Given the description of an element on the screen output the (x, y) to click on. 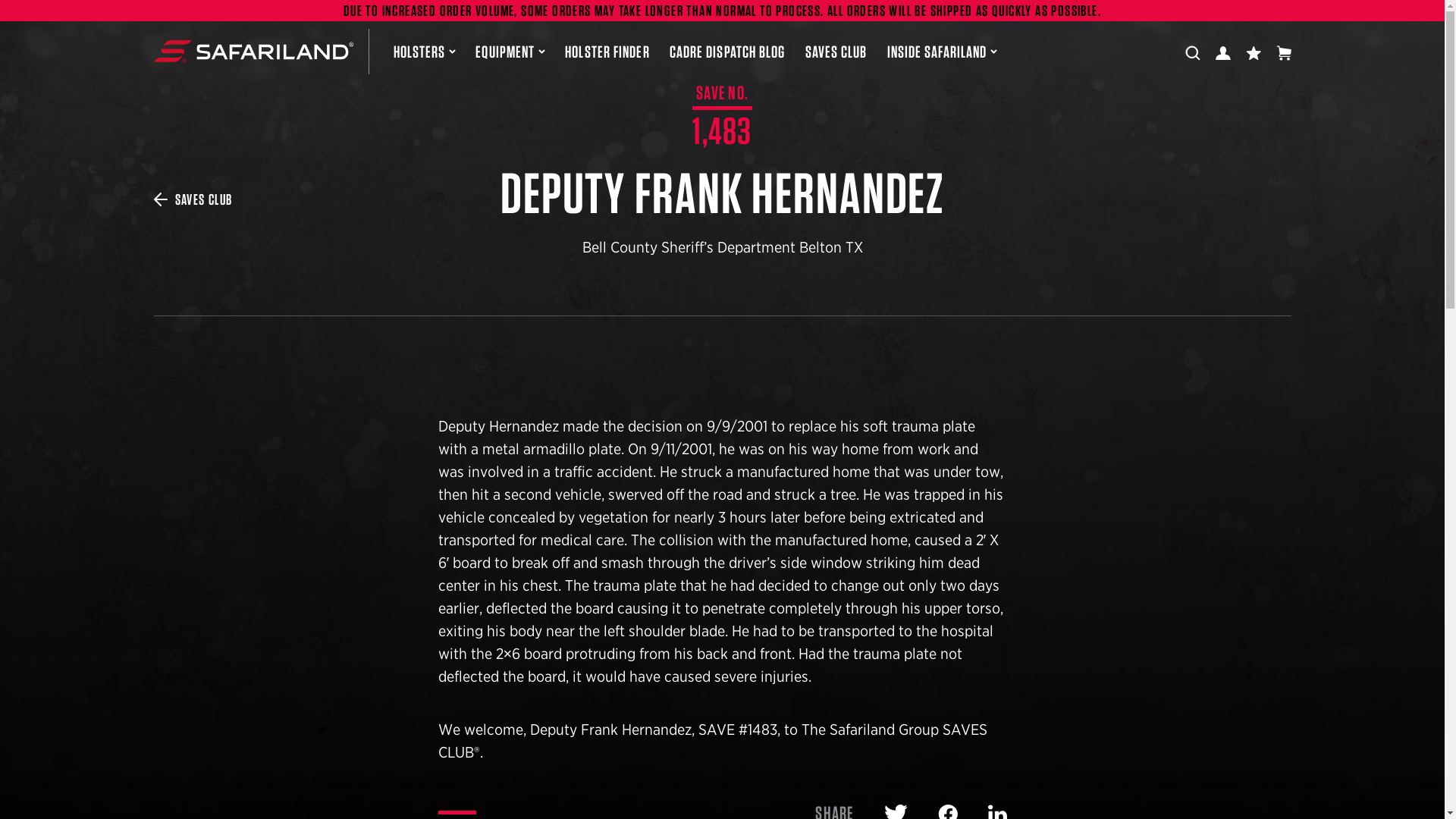
Safariland (252, 51)
HOLSTERS (424, 51)
